Given the description of an element on the screen output the (x, y) to click on. 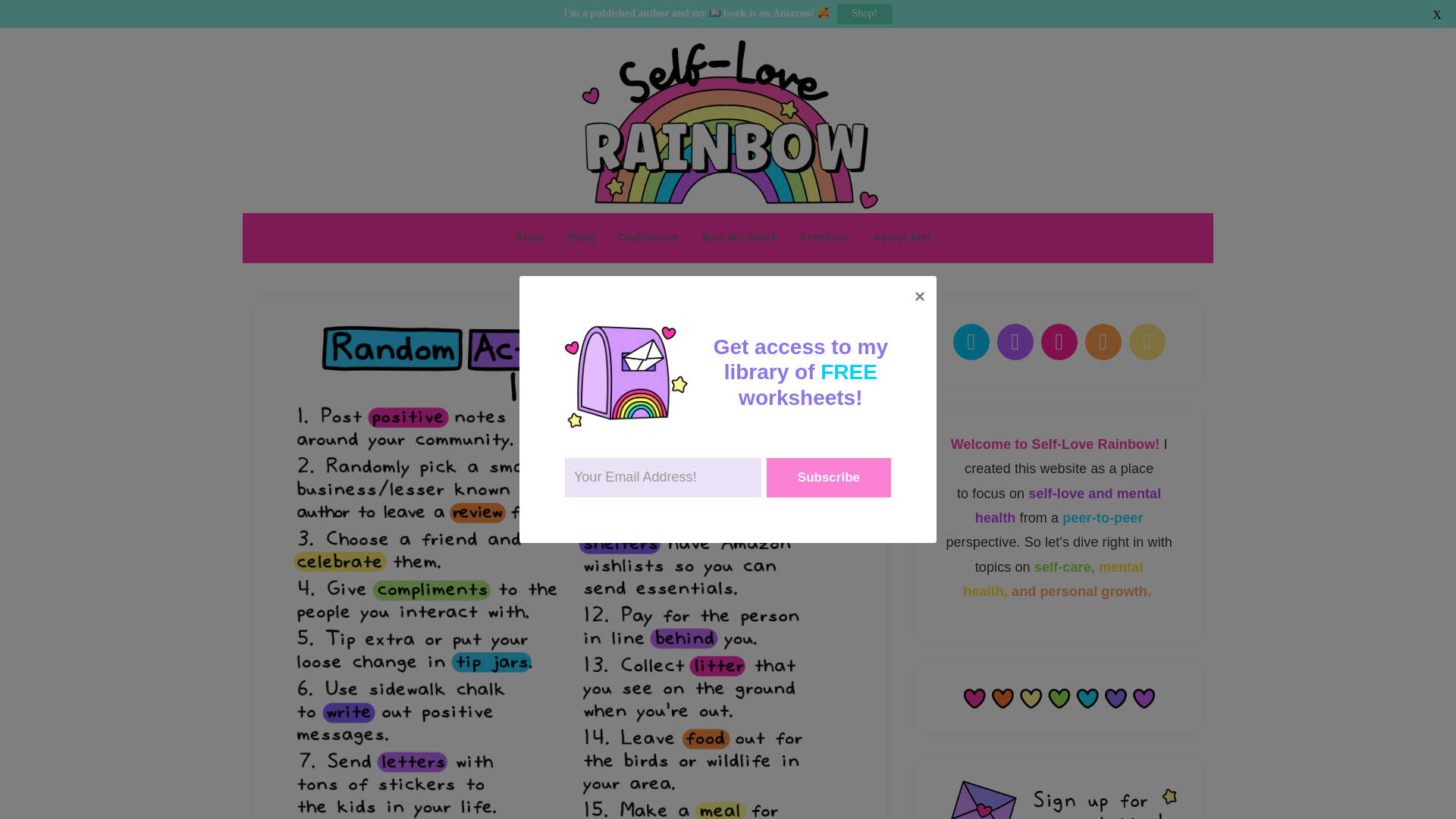
Facebook (970, 341)
Shopify (1103, 341)
Instagram (1014, 341)
Blog (580, 237)
Pinterest (1058, 341)
Clubhouse (647, 237)
Freebies (825, 237)
Shop (529, 237)
About Me! (906, 237)
Tiktok (1147, 341)
Buy My Book (739, 237)
